Given the description of an element on the screen output the (x, y) to click on. 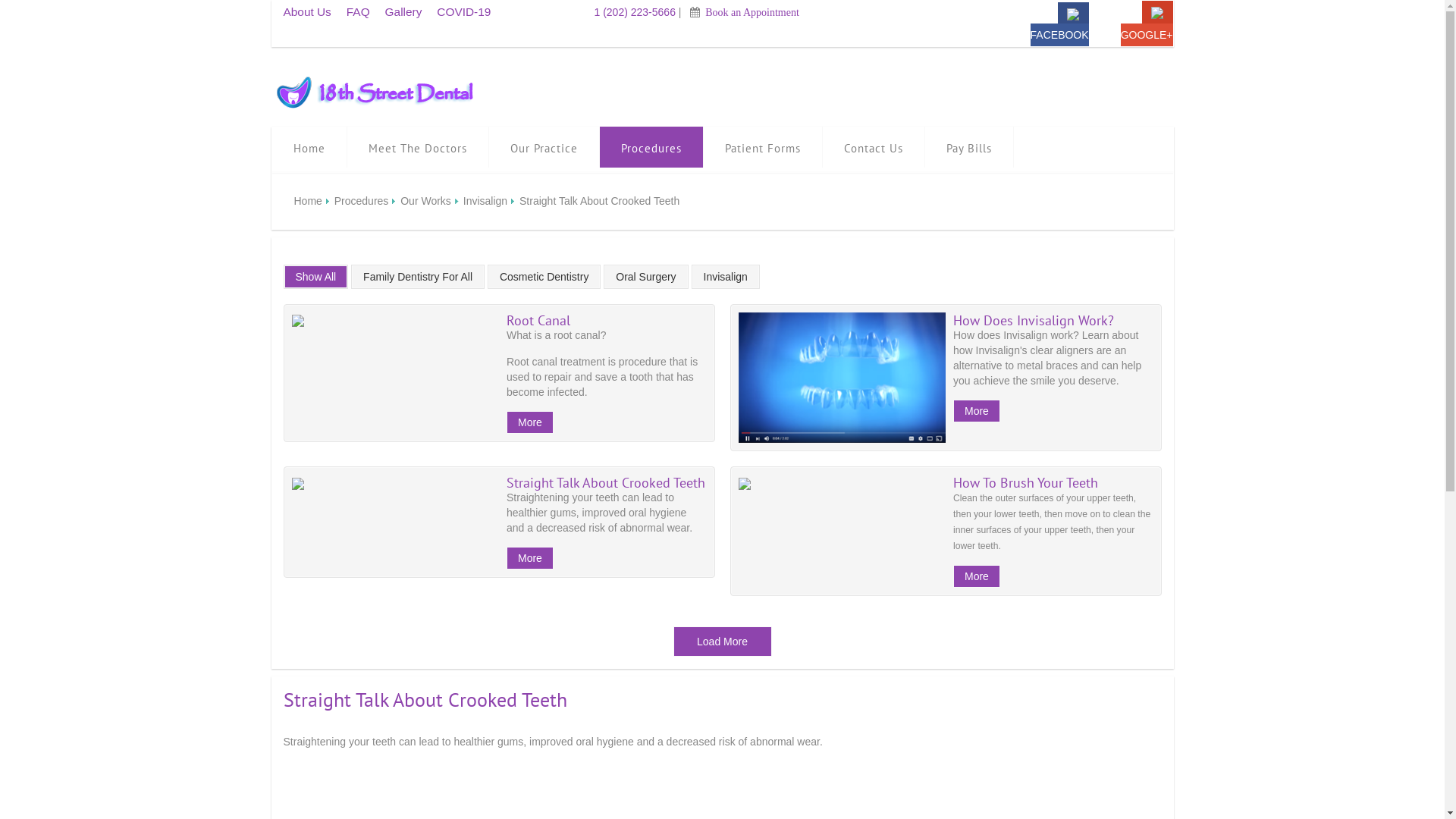
GOOGLE+ Element type: text (1146, 34)
Gallery Element type: text (403, 11)
Meet The Doctors Element type: text (417, 146)
About Us Element type: text (307, 11)
Straight Talk About Crooked Teeth Element type: text (425, 699)
Oral Surgery Element type: text (645, 276)
How Does Invisalign Work? Element type: text (1053, 319)
COVID-19 Element type: text (463, 11)
Contact Us Element type: text (872, 146)
Invisalign Element type: text (489, 200)
More Element type: text (976, 410)
Straight Talk About Crooked Teeth Element type: text (606, 481)
Pay Bills Element type: text (968, 146)
FAQ Element type: text (358, 11)
Our Works Element type: text (430, 200)
How To Brush Your Teeth Element type: text (1053, 481)
Family Dentistry For All Element type: text (417, 276)
Root Canal Element type: text (606, 319)
Invisalign Element type: text (725, 276)
1 (202) 223-5666 Element type: text (627, 12)
Procedures Element type: text (366, 200)
Procedures Element type: text (650, 146)
Home Element type: text (308, 146)
Our Practice Element type: text (543, 146)
More Element type: text (976, 575)
Load More Element type: text (722, 641)
More Element type: text (529, 422)
 Book an Appointment Element type: text (750, 12)
Home Element type: text (312, 200)
Show All Element type: text (315, 276)
Patient Forms Element type: text (762, 146)
More Element type: text (529, 557)
Cosmetic Dentistry Element type: text (543, 276)
FACEBOOK Element type: text (1059, 34)
